Given the description of an element on the screen output the (x, y) to click on. 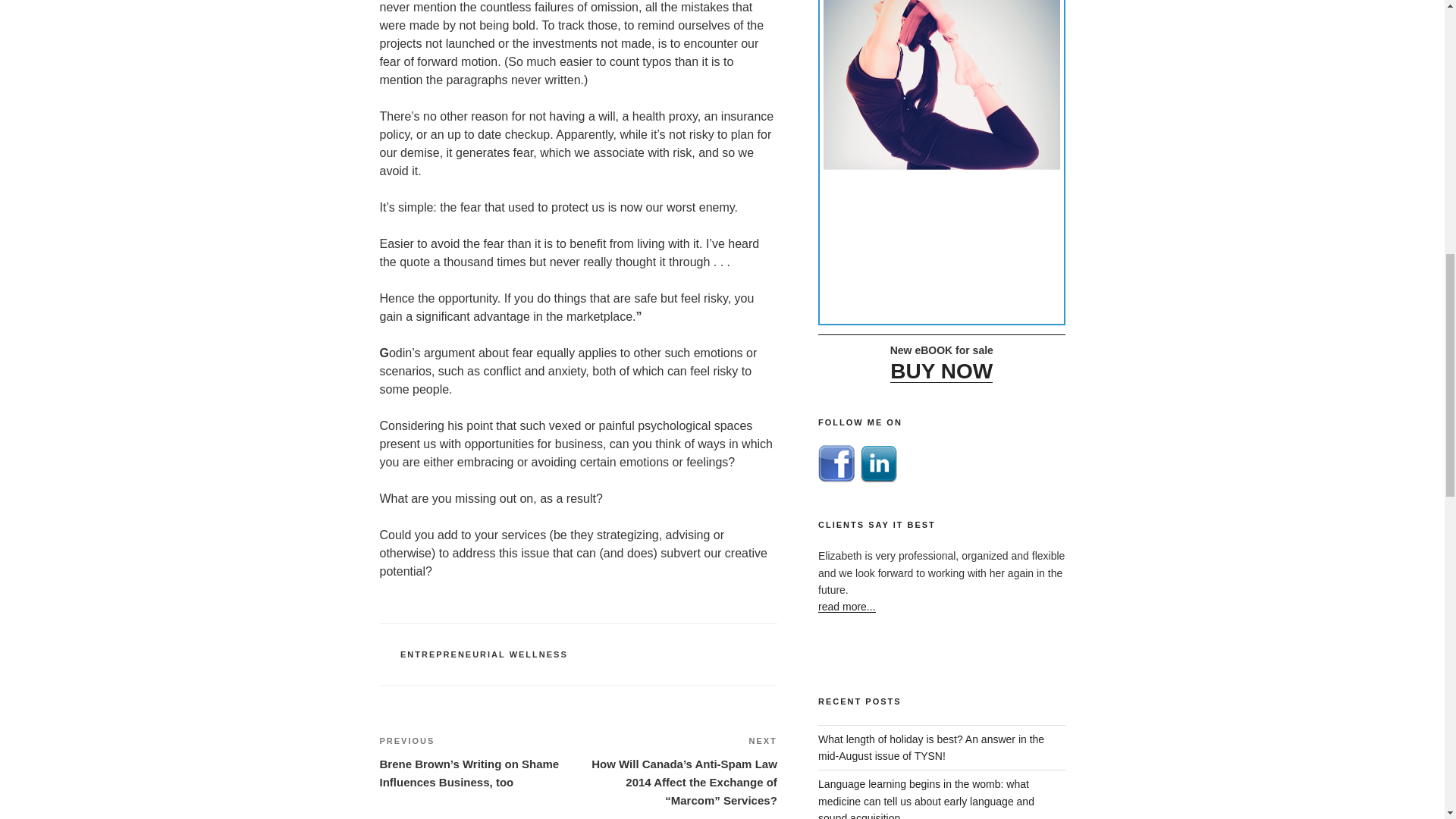
ENTREPRENEURIAL WELLNESS (483, 654)
read more... (846, 606)
BUY NOW (940, 367)
